Given the description of an element on the screen output the (x, y) to click on. 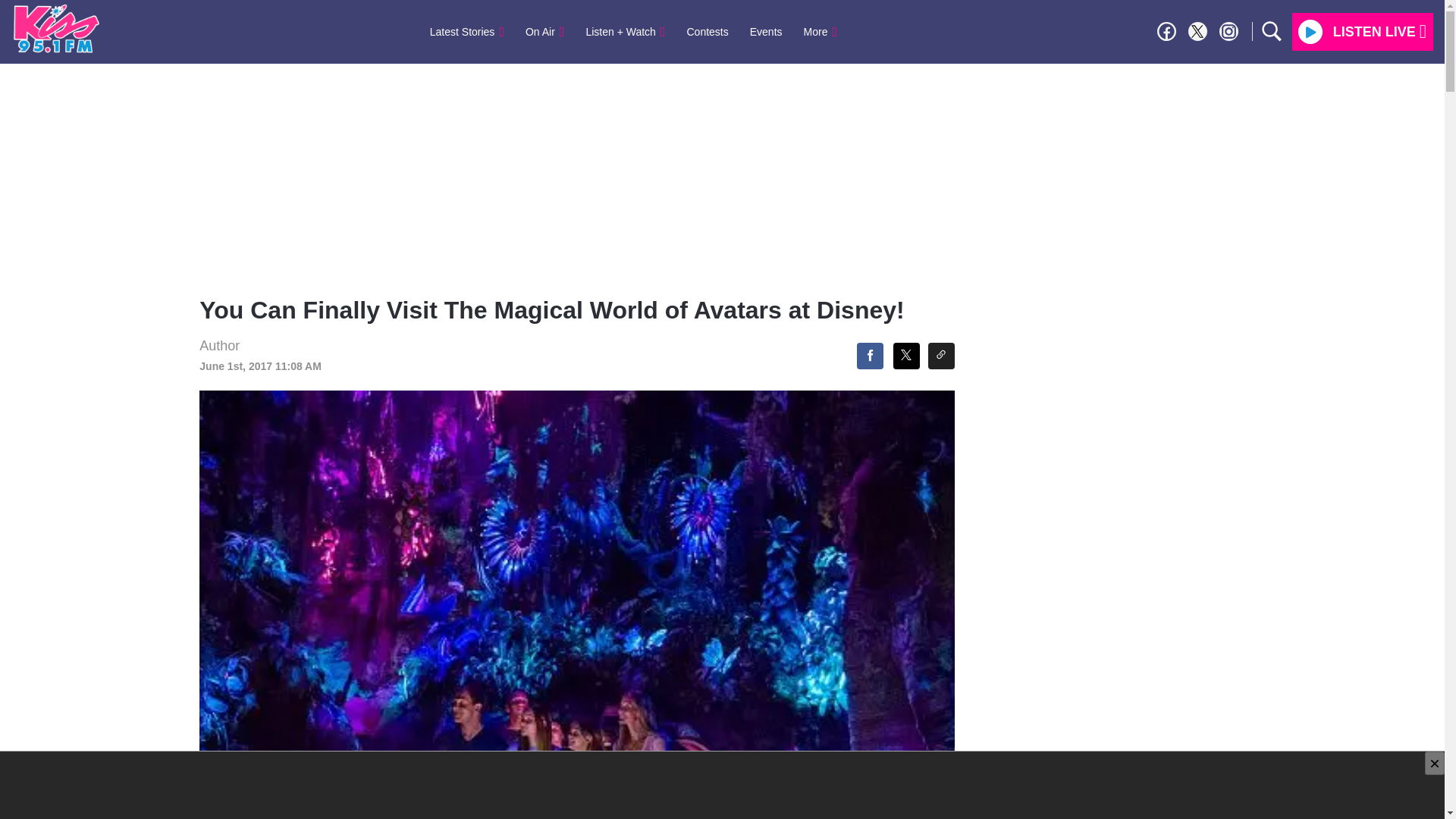
Contests (708, 31)
Latest Stories (467, 31)
Events (766, 31)
More (820, 31)
On Air (545, 31)
